Given the description of an element on the screen output the (x, y) to click on. 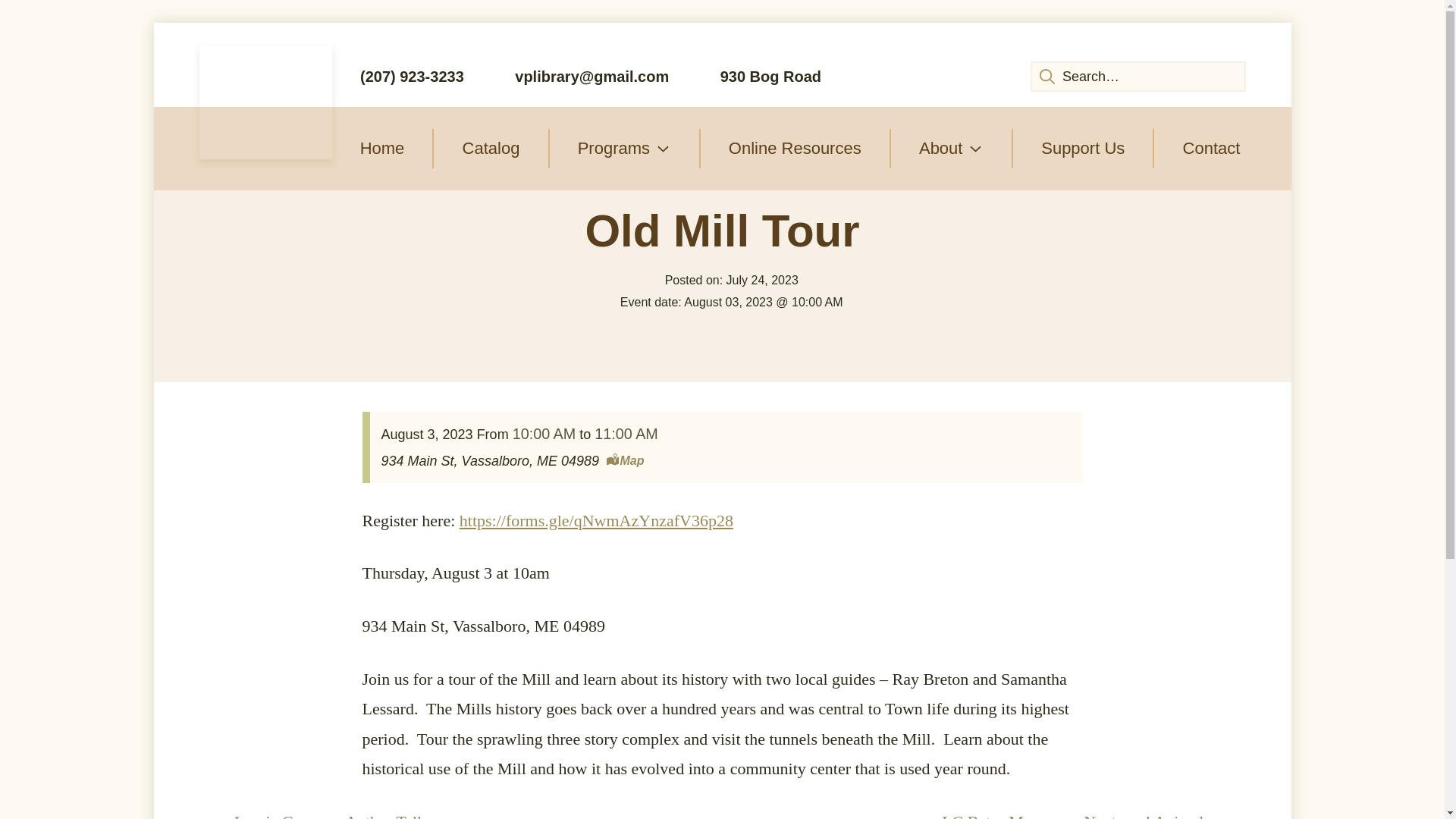
Map (625, 461)
930 Bog Road (756, 75)
Search for: (1138, 76)
Catalog (490, 148)
Online Resources (794, 148)
Home (381, 148)
Support Us (1083, 148)
Contact (1211, 148)
About (951, 148)
Programs (624, 148)
